Given the description of an element on the screen output the (x, y) to click on. 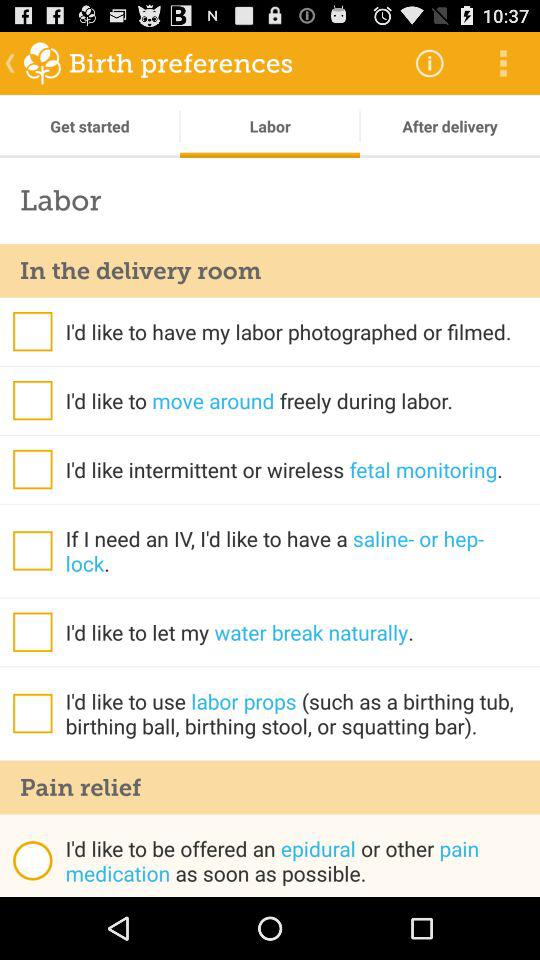
select option if i need an iv i 'd like to have a saline- or hep lock (32, 550)
